Given the description of an element on the screen output the (x, y) to click on. 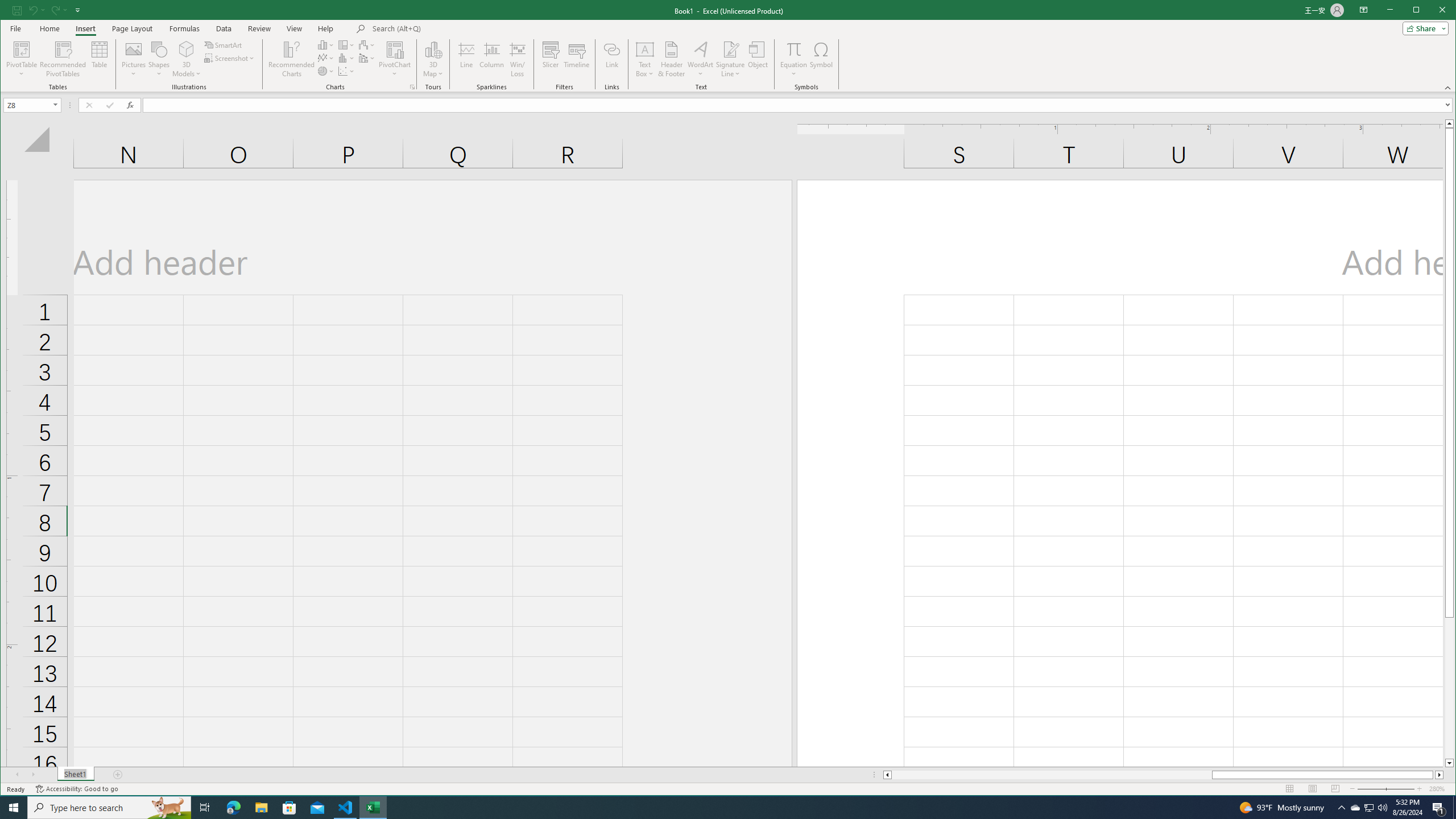
Show desktop (1454, 807)
PivotTable (1368, 807)
Column (22, 59)
Action Center, 1 new notification (492, 59)
Microsoft Store (1439, 807)
Notification Chevron (1355, 807)
Running applications (289, 807)
3D Map (1341, 807)
Recommended Charts (717, 807)
